Given the description of an element on the screen output the (x, y) to click on. 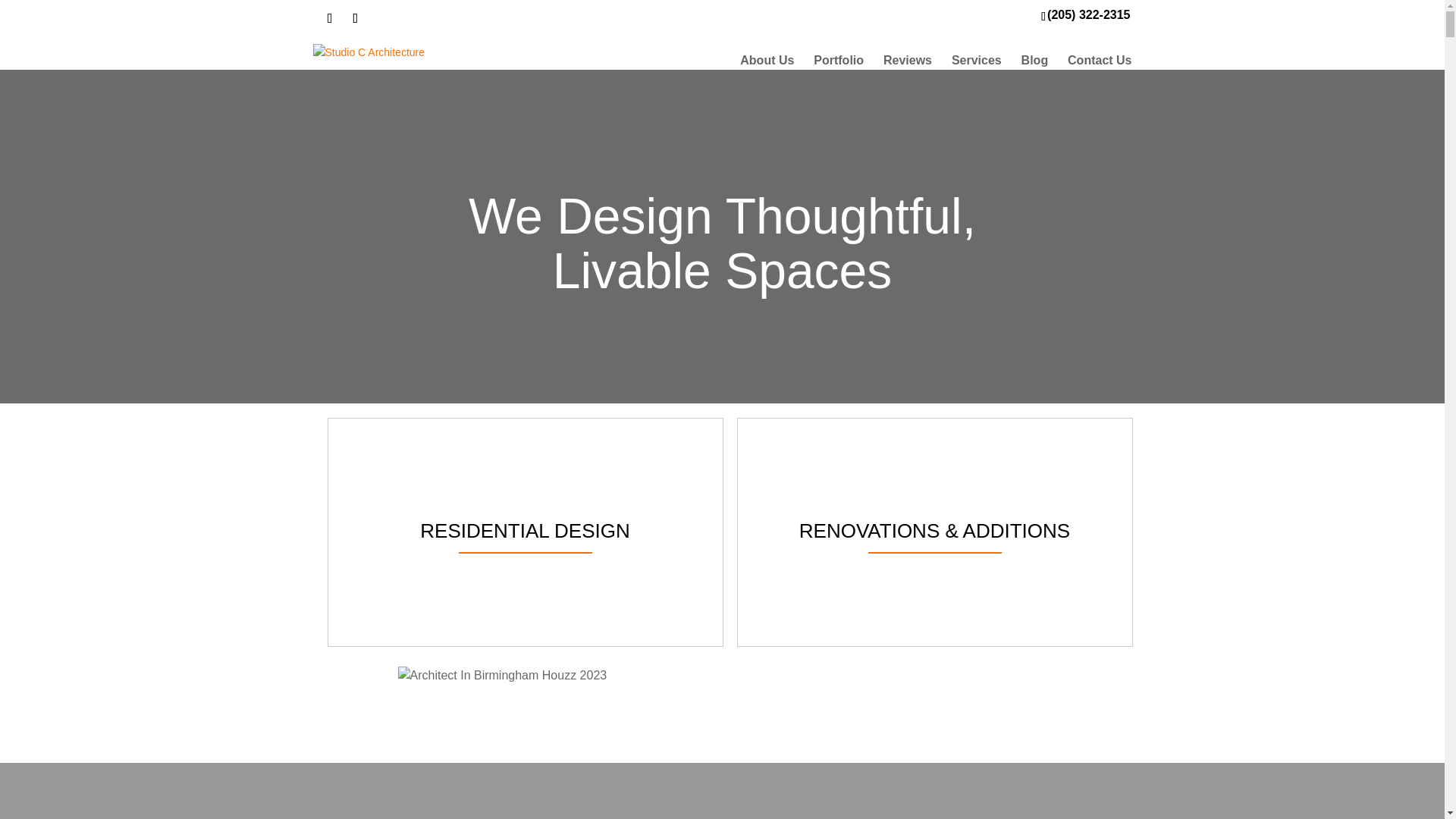
Contact Us (1099, 60)
RESIDENTIAL DESIGN (524, 532)
Reviews (907, 60)
Blog (1035, 60)
About Us (766, 60)
SMITH LAKE LIVING (481, 790)
Services (976, 60)
Portfolio (838, 60)
